Given the description of an element on the screen output the (x, y) to click on. 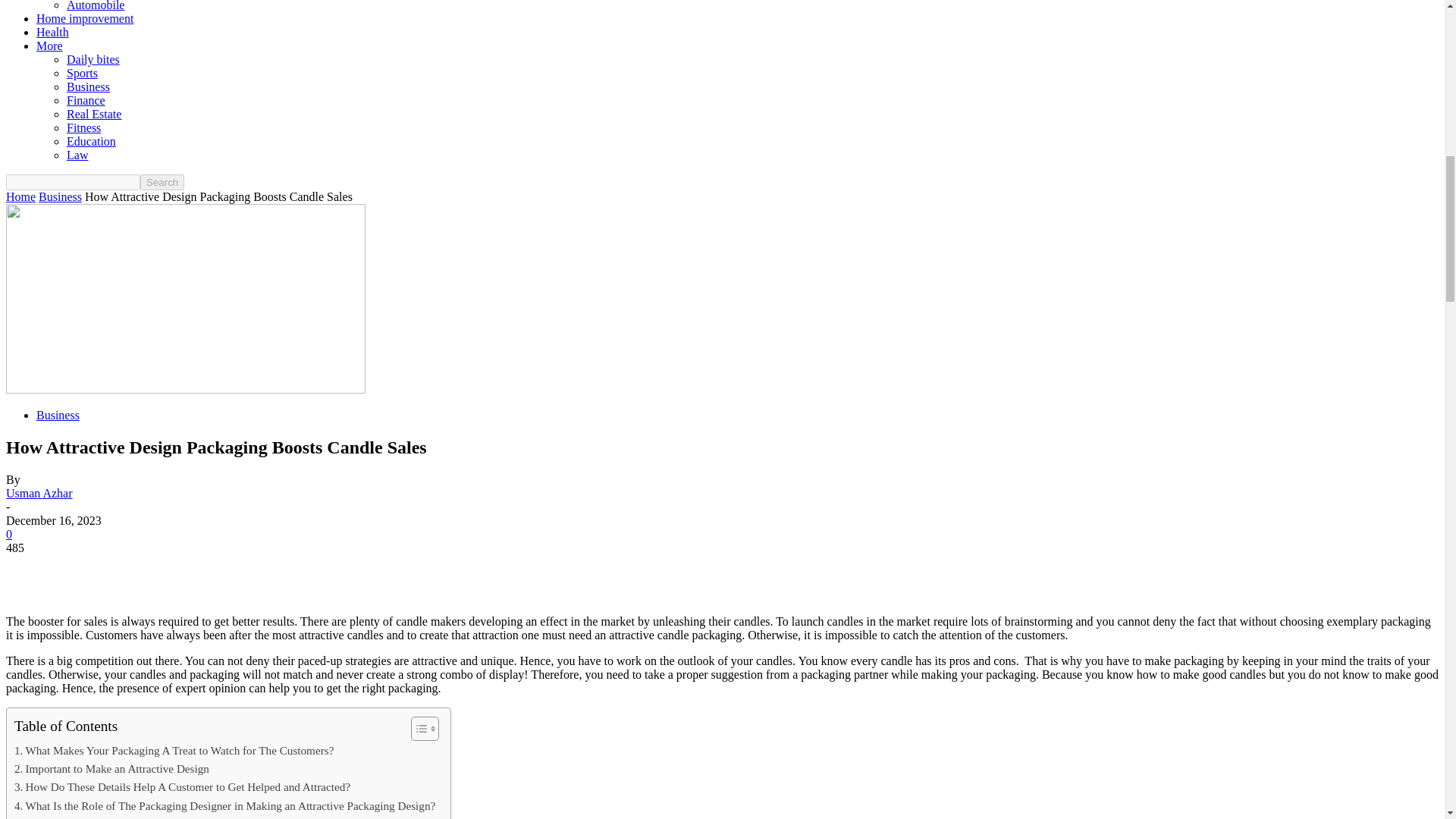
fji (185, 298)
View all posts in Business (60, 196)
Search (161, 182)
Important to Make an Attractive Design (111, 769)
